Given the description of an element on the screen output the (x, y) to click on. 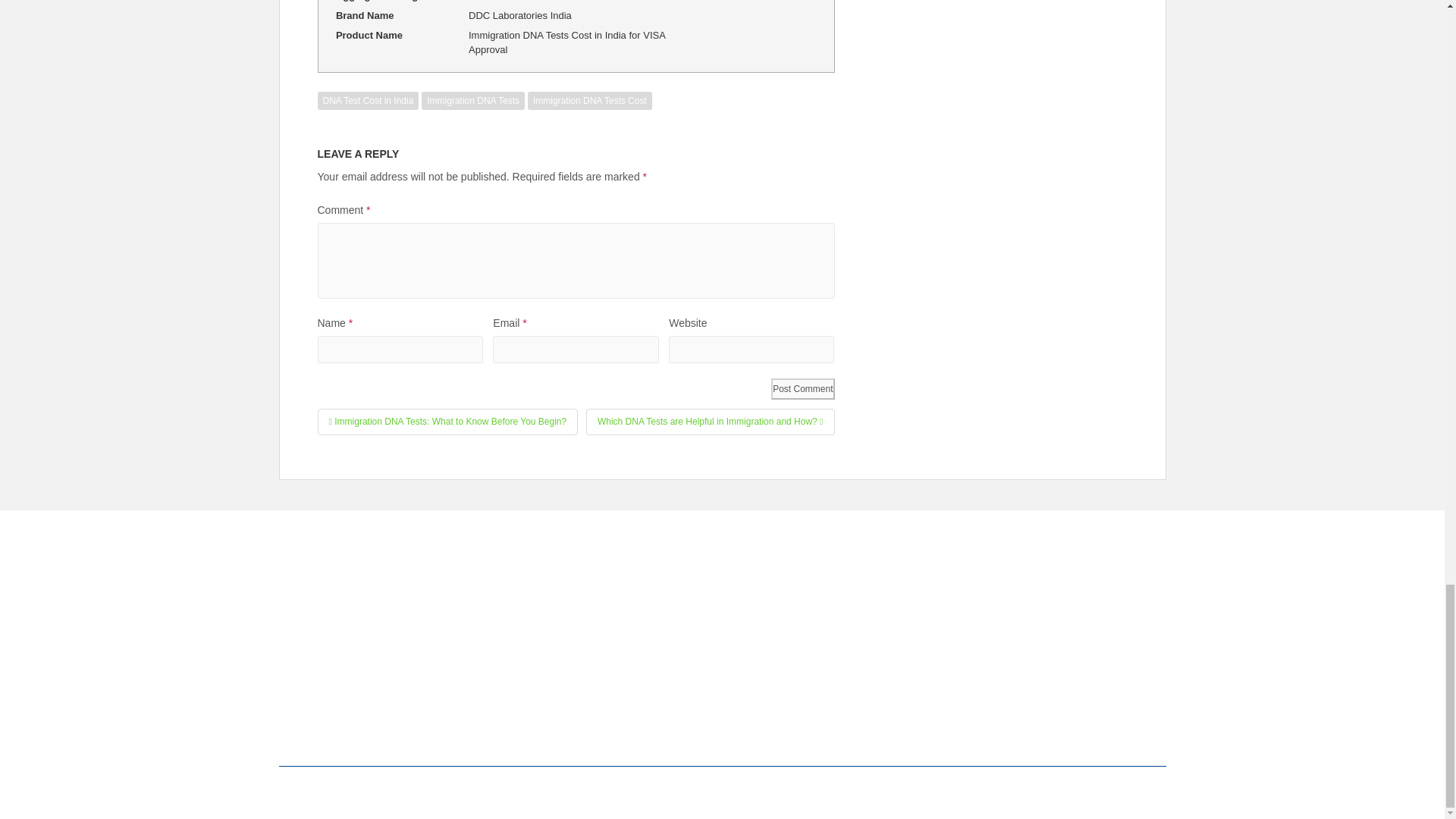
Post Comment (802, 388)
Post Comment (802, 388)
Immigration DNA Tests (473, 99)
DNA Test Cost in India (368, 99)
Immigration DNA Tests Cost (589, 99)
